Given the description of an element on the screen output the (x, y) to click on. 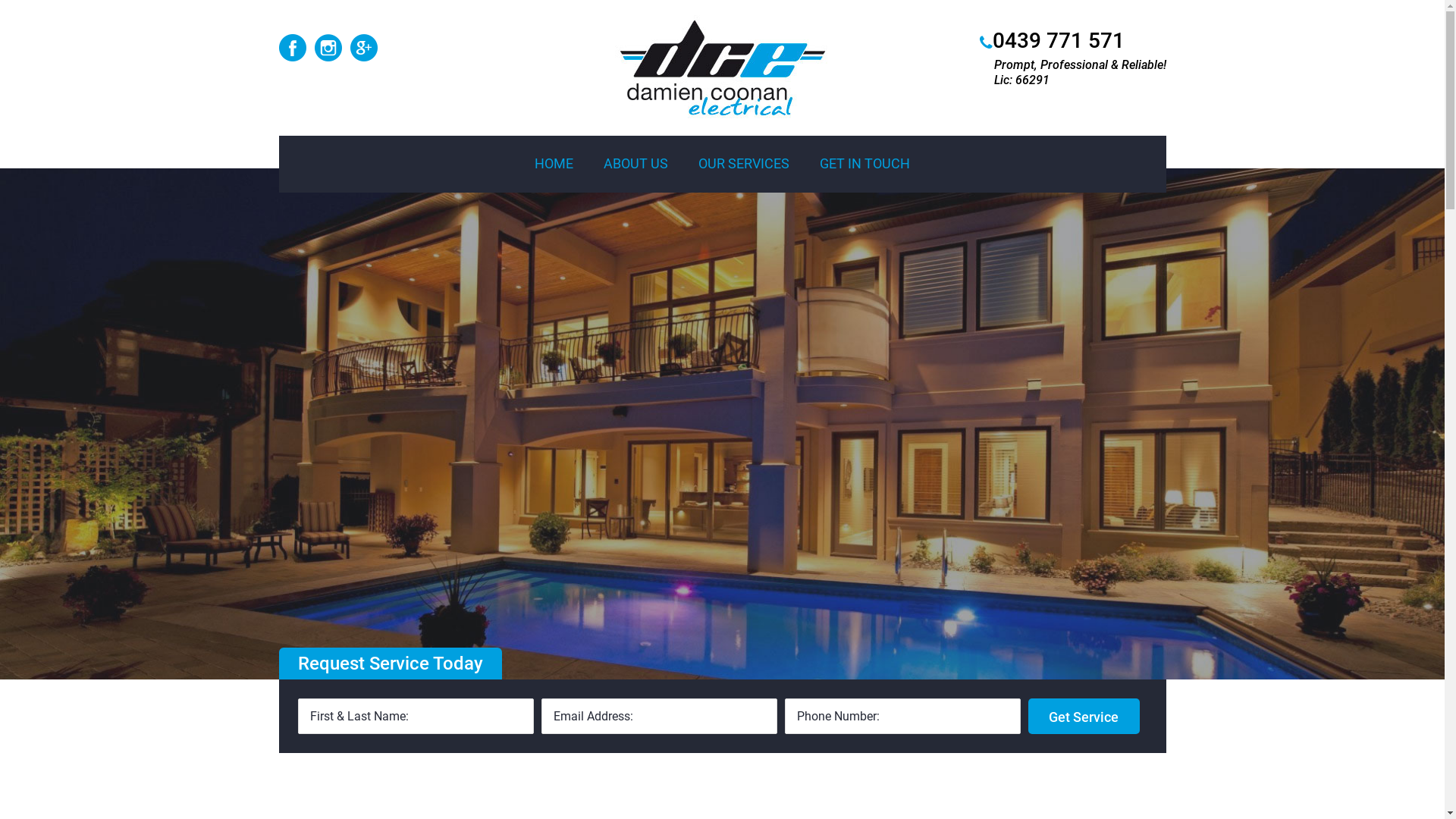
ABOUT US Element type: text (635, 163)
Get Service Element type: text (1083, 716)
GET IN TOUCH Element type: text (864, 163)
0439 771 571 Element type: text (1057, 40)
HOME Element type: text (553, 163)
OUR SERVICES Element type: text (743, 163)
